Given the description of an element on the screen output the (x, y) to click on. 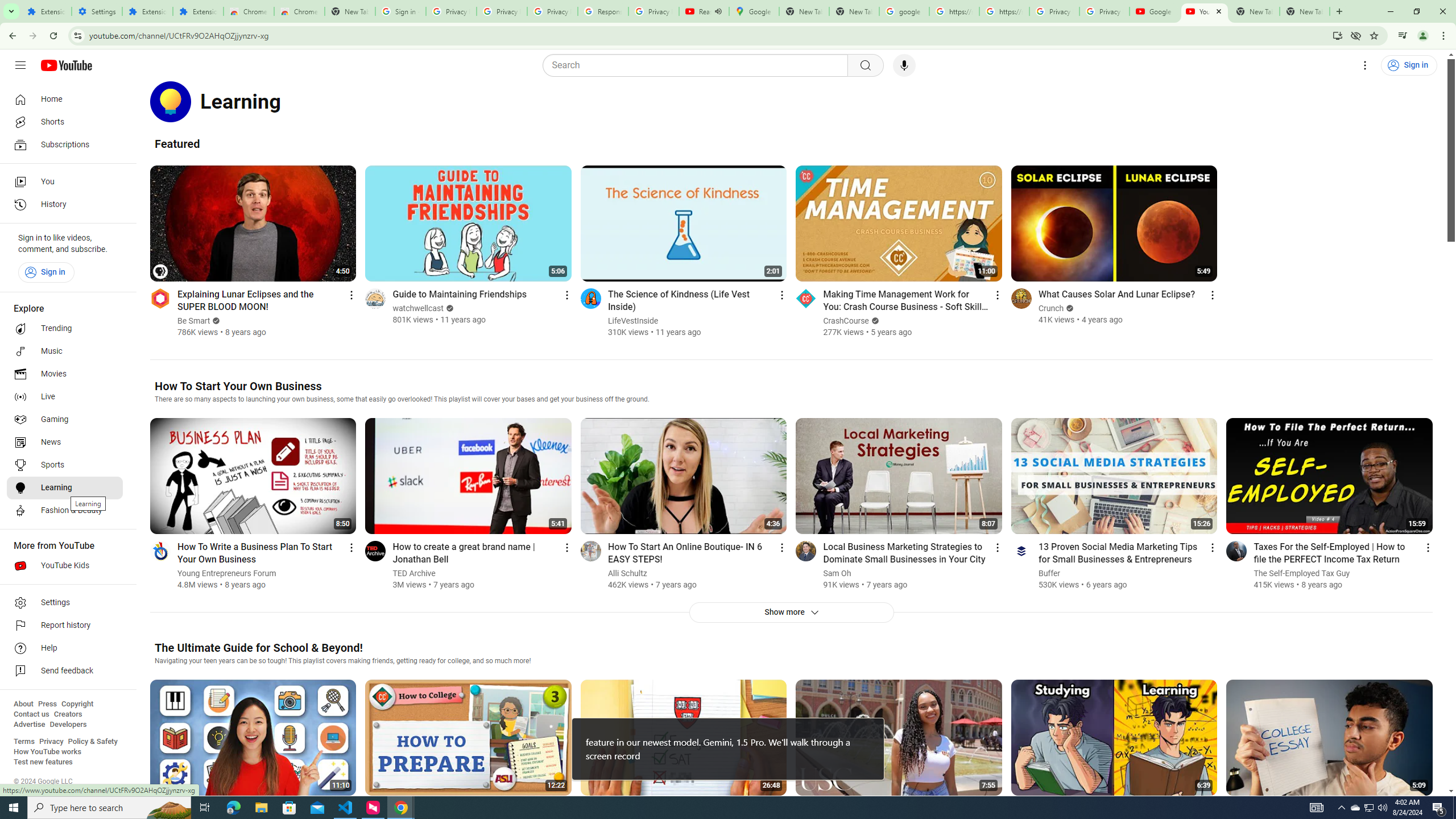
Press (46, 703)
YouTube (1204, 11)
New Tab (1304, 11)
Report history (64, 625)
YouTube Kids (64, 565)
Google Maps (753, 11)
Fashion & Beauty (64, 510)
watchwellcast (418, 308)
Creators (67, 714)
How To Start Your Own Business (237, 385)
